Given the description of an element on the screen output the (x, y) to click on. 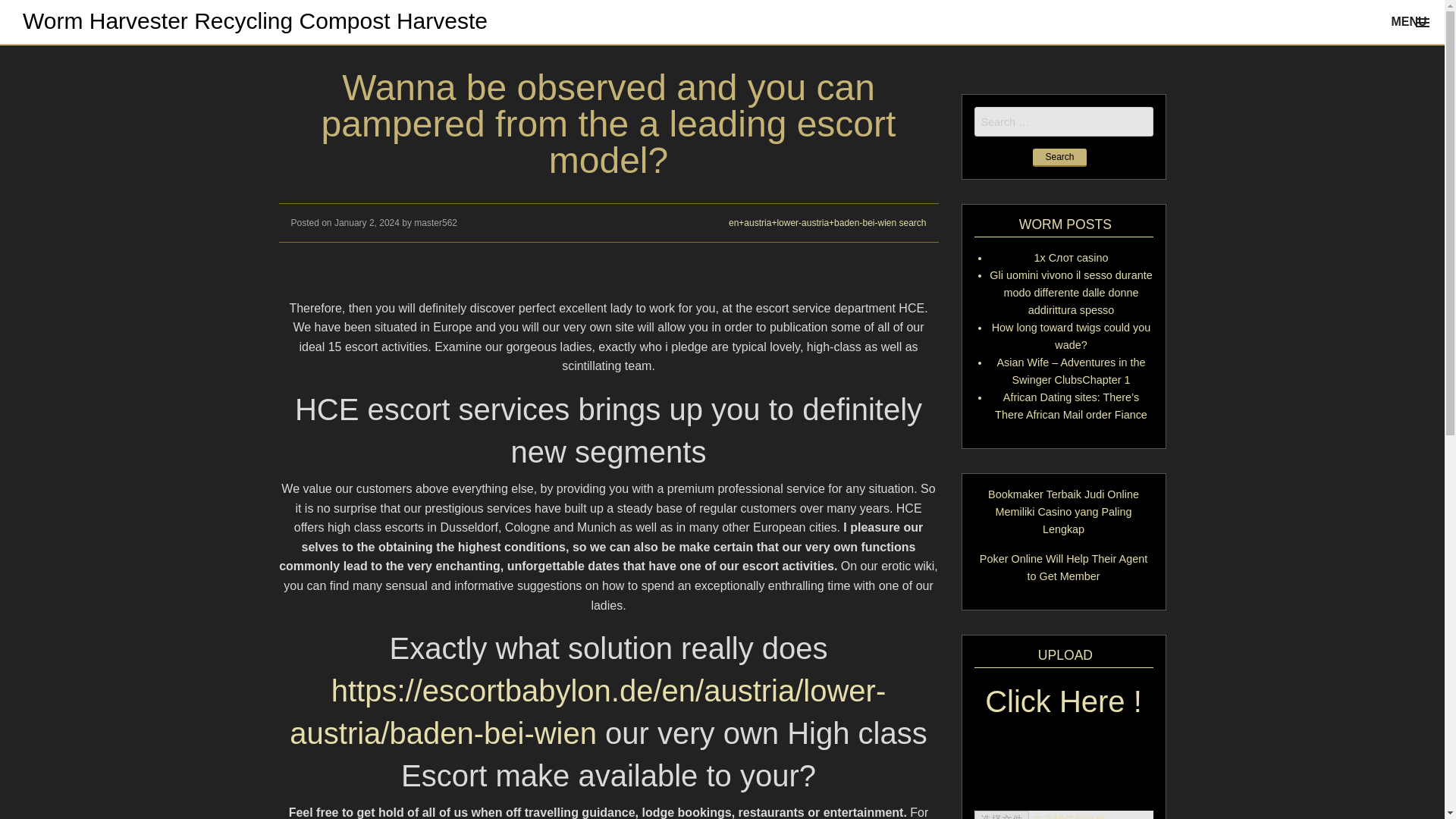
Search (1059, 157)
Click Here ! (1063, 711)
How long toward twigs could you wade? (1071, 336)
Search (1059, 157)
Poker Online Will Help Their Agent to Get Member (1063, 567)
Worm Harvester Recycling Compost Harveste (255, 20)
Search (1059, 157)
